Given the description of an element on the screen output the (x, y) to click on. 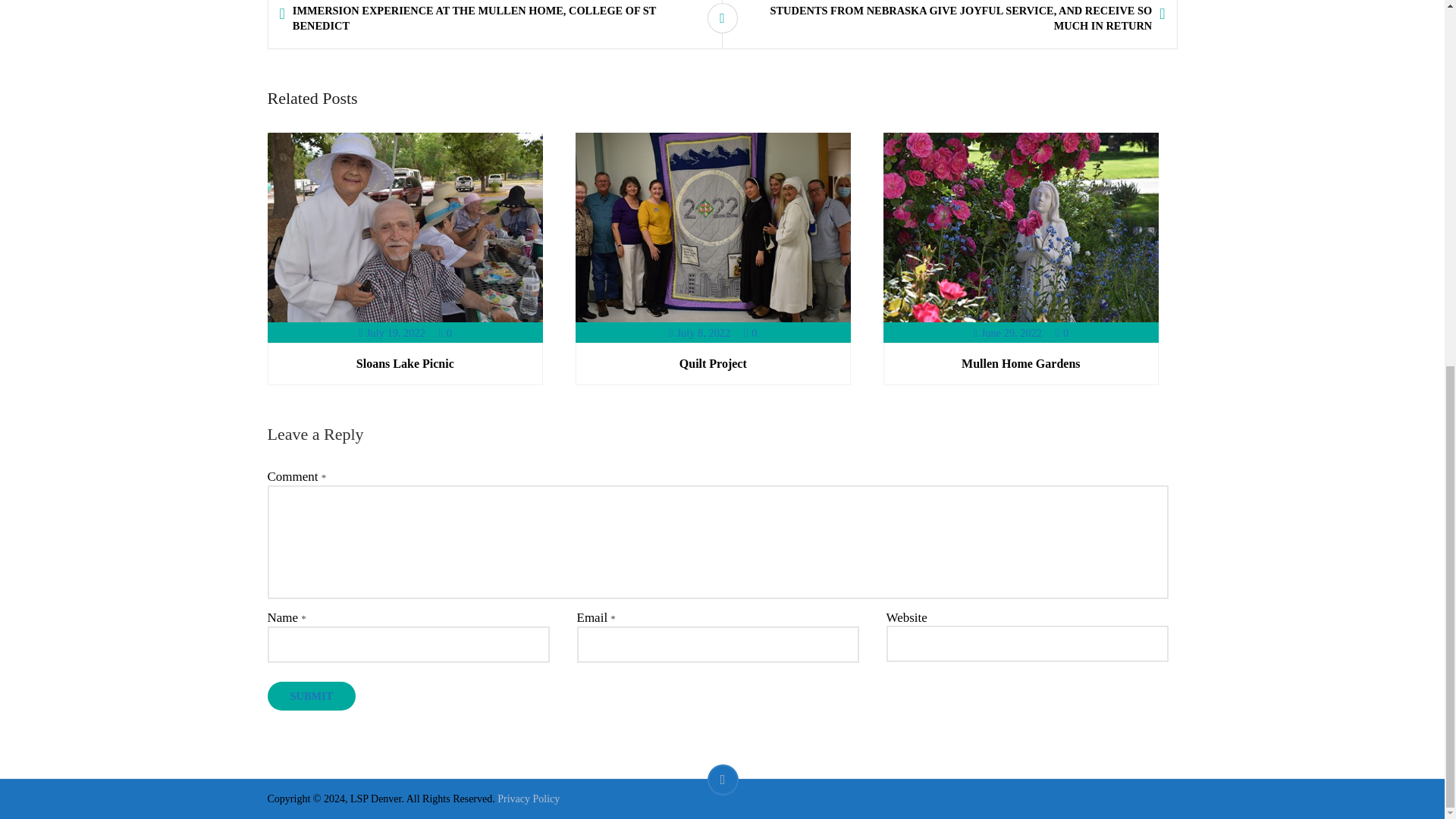
Quilt Project (712, 363)
Privacy Policy (528, 798)
Sloans Lake Picnic (405, 363)
SUBMIT (310, 695)
Mullen Home Gardens (1020, 363)
SUBMIT (310, 695)
